Given the description of an element on the screen output the (x, y) to click on. 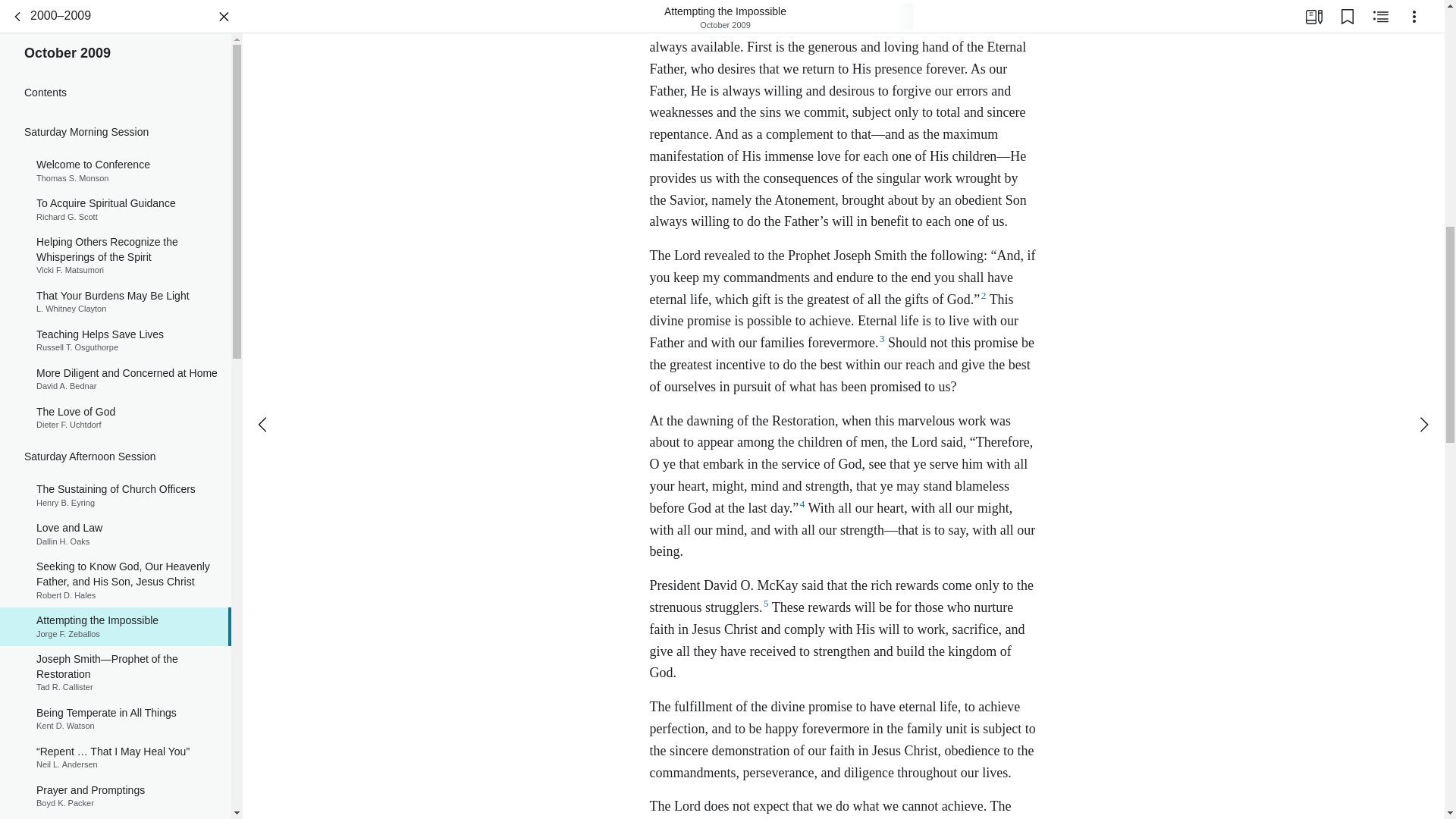
Sunday Afternoon Session (115, 645)
Priesthood Session (115, 33)
Sunday Morning Session (115, 334)
